Given the description of an element on the screen output the (x, y) to click on. 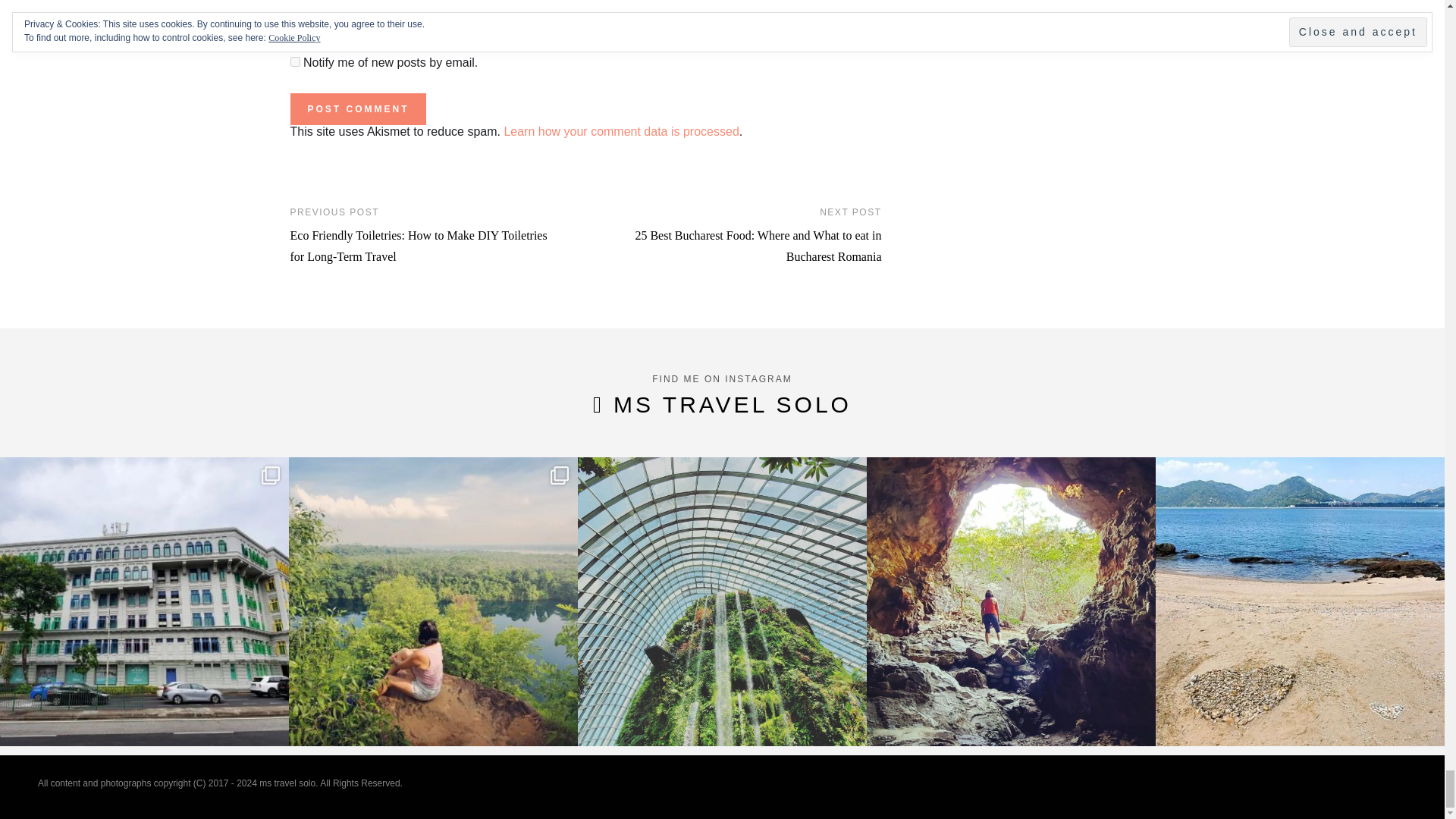
subscribe (294, 35)
subscribe (294, 61)
Post Comment (357, 109)
yes (294, 17)
